Given the description of an element on the screen output the (x, y) to click on. 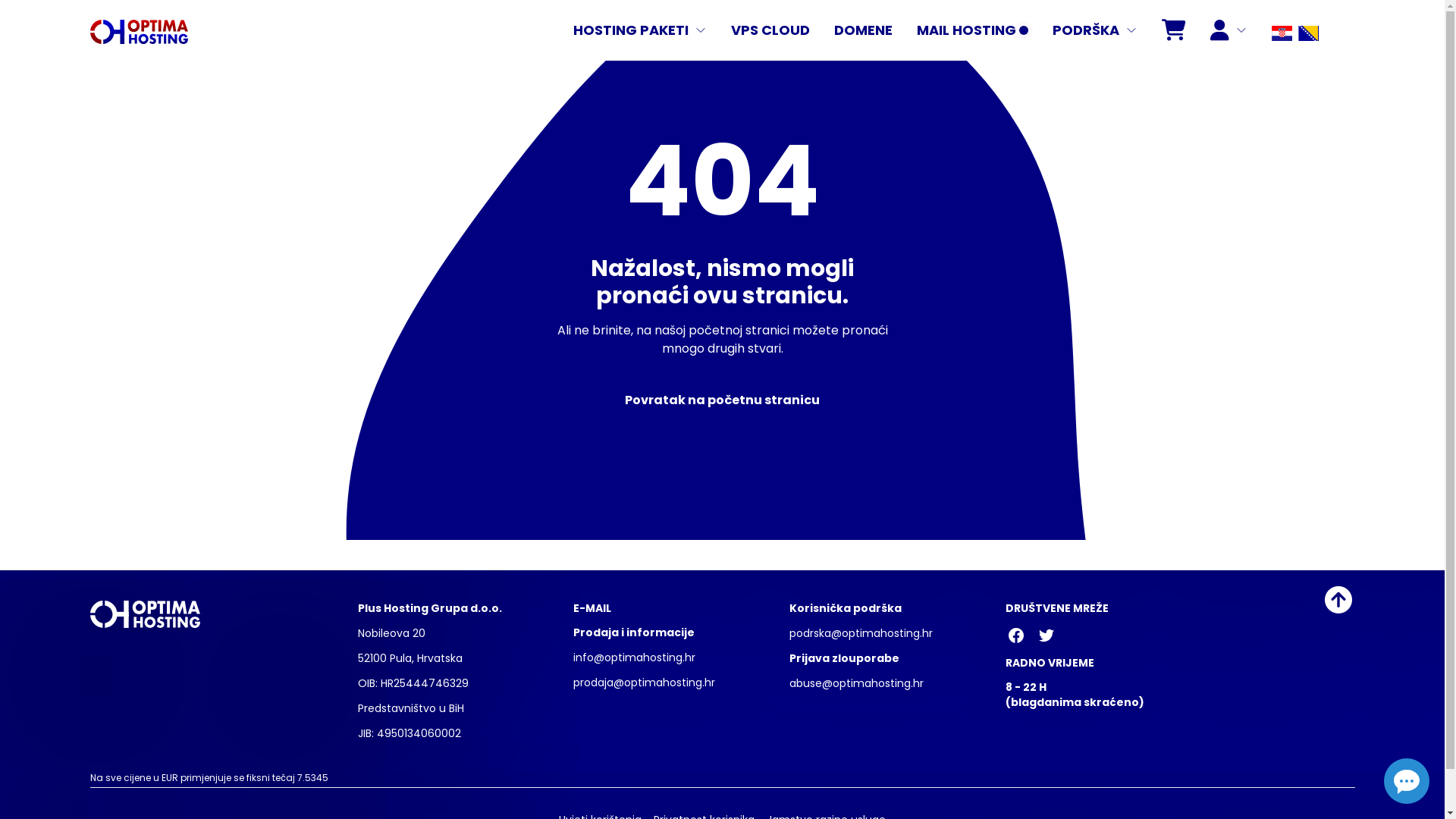
MAIL HOSTING Element type: text (972, 29)
DOMENE Element type: text (863, 29)
VPS CLOUD Element type: text (770, 29)
info@optimahosting.hr Element type: text (634, 657)
prodaja@optimahosting.hr Element type: text (644, 682)
Facebook Element type: hover (1015, 635)
podrska@optimahosting.hr Element type: text (860, 632)
HOSTING PAKETI Element type: text (639, 29)
abuse@optimahosting.hr Element type: text (856, 682)
Twitter Element type: hover (1046, 635)
